Given the description of an element on the screen output the (x, y) to click on. 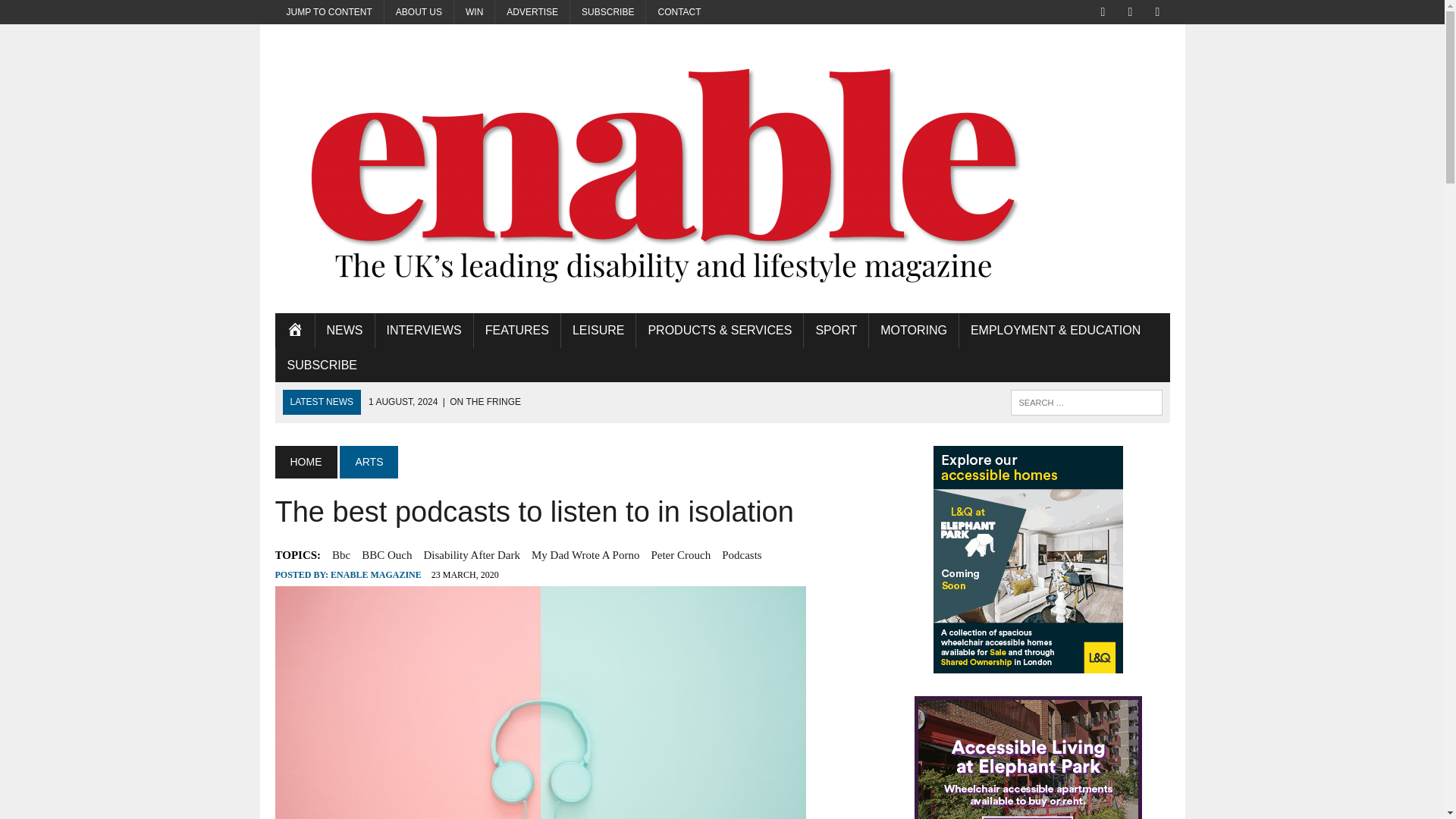
FEATURES (517, 330)
CONTACT (678, 12)
SPORT (835, 330)
ABOUT US (418, 12)
HOME (294, 330)
Search (75, 14)
SUBSCRIBE (607, 12)
My Dad Wrote A Porno (585, 555)
Follow us on Facebook (1102, 10)
On the Fringe (444, 401)
Follow us on Twitter (1129, 10)
JUMP TO CONTENT (328, 12)
ADVERTISE (532, 12)
Peter Crouch (680, 555)
